Given the description of an element on the screen output the (x, y) to click on. 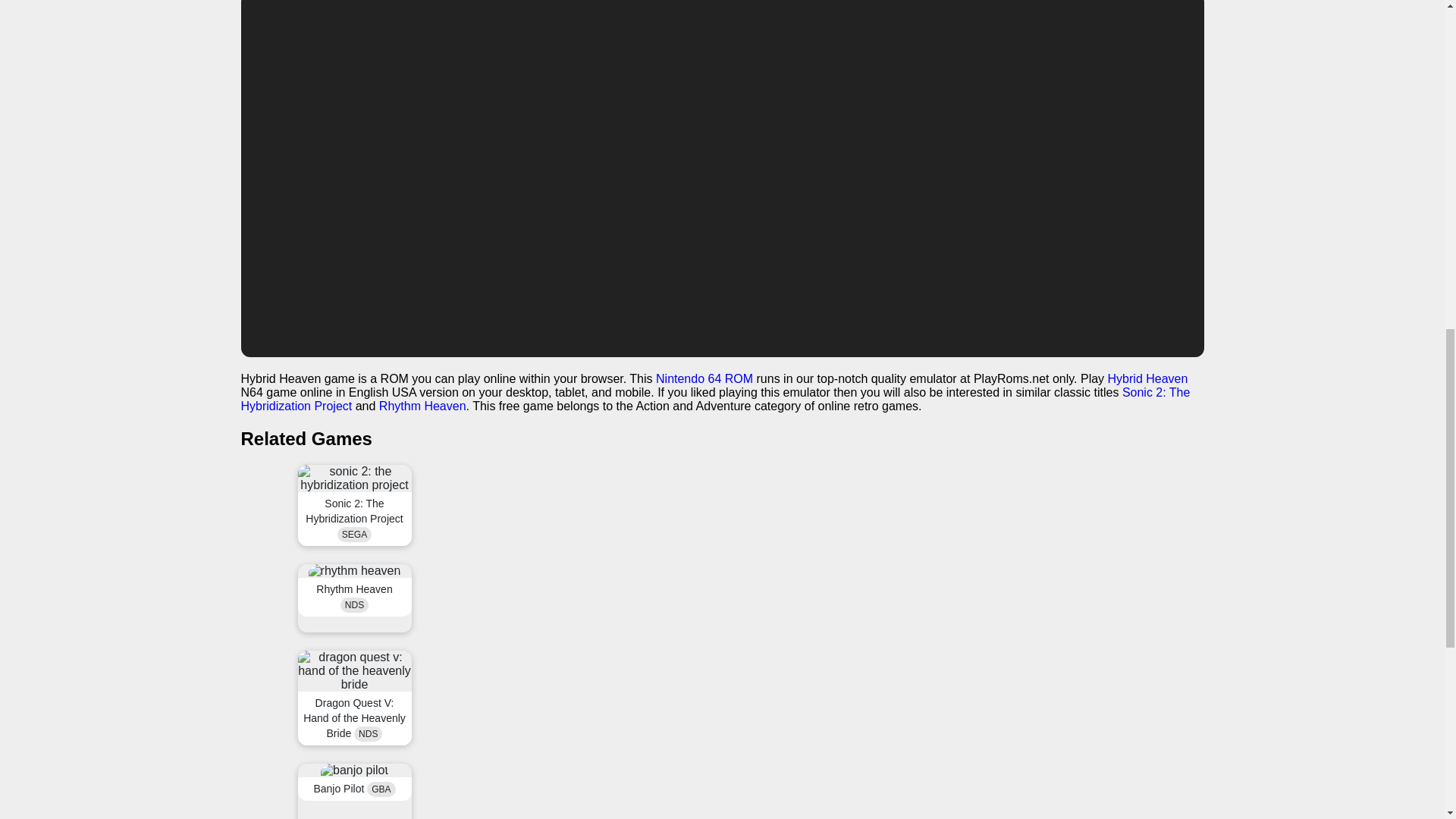
Nintendo 64 ROM (704, 378)
